Given the description of an element on the screen output the (x, y) to click on. 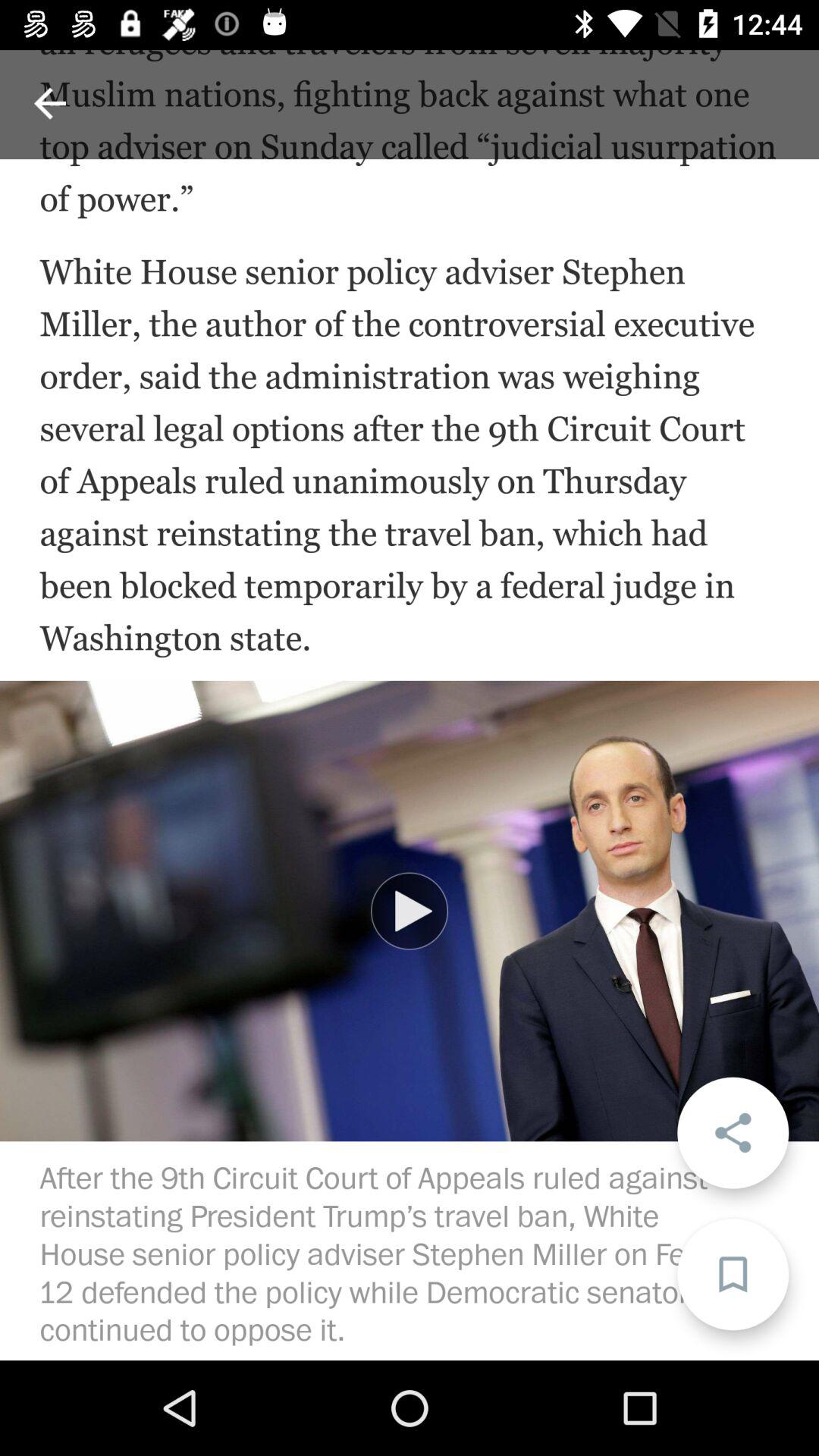
play (409, 910)
